Given the description of an element on the screen output the (x, y) to click on. 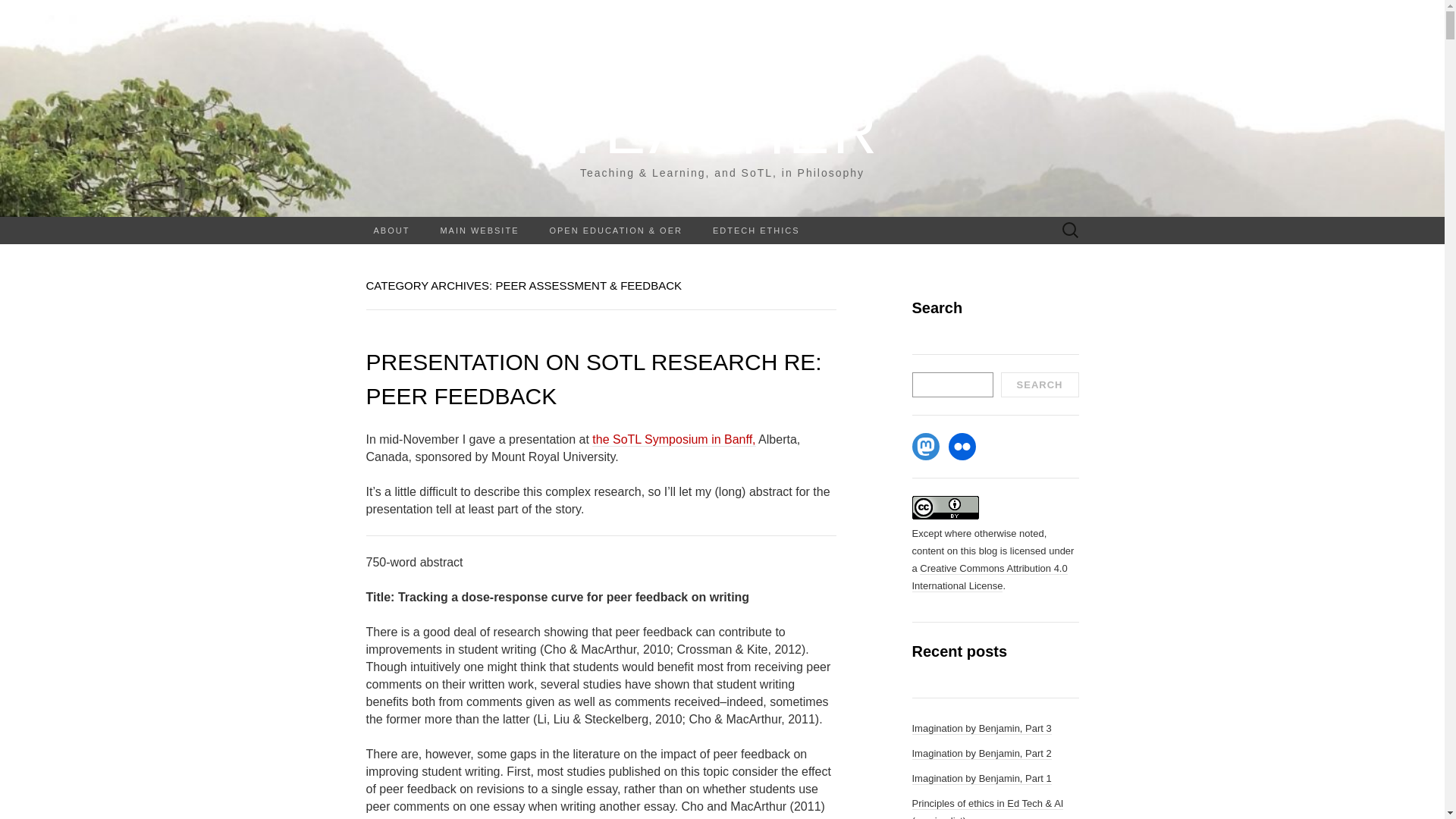
the SoTL Symposium in Banff, (673, 439)
MAIN WEBSITE (479, 230)
PRESENTATION ON SOTL RESEARCH RE: PEER FEEDBACK (593, 378)
Search (16, 12)
You're the Teacher (722, 101)
YOU'RE THE TEACHER (722, 101)
EDTECH ETHICS (756, 230)
ABOUT (391, 230)
